Given the description of an element on the screen output the (x, y) to click on. 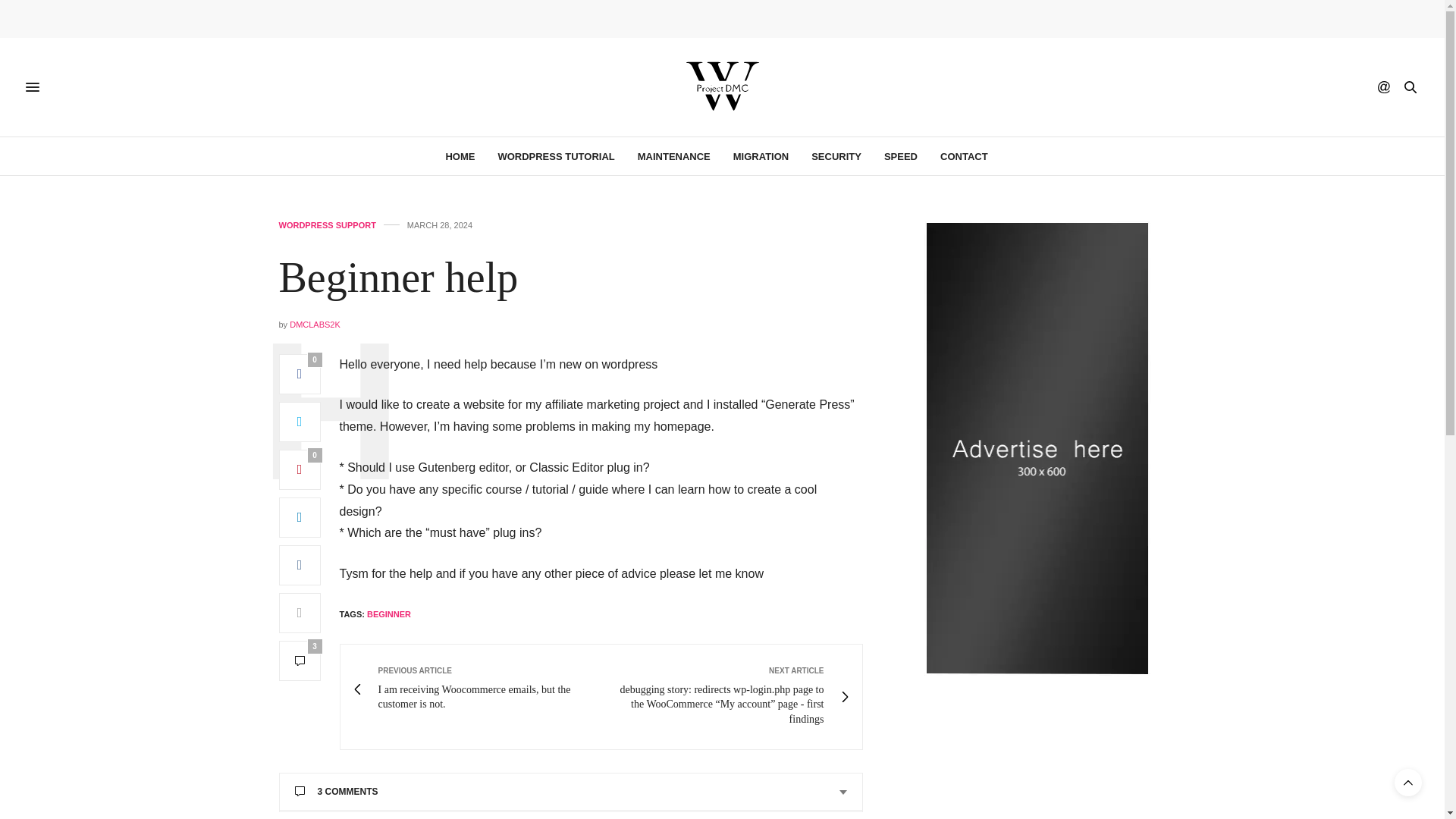
Project DMC (721, 86)
Scroll To Top (1408, 782)
DMCLABS2K (314, 324)
MAINTENANCE (673, 156)
SECURITY (835, 156)
CONTACT (964, 156)
MIGRATION (761, 156)
0 (299, 469)
3 (299, 660)
WORDPRESS TUTORIAL (555, 156)
BEGINNER (388, 614)
WORDPRESS SUPPORT (327, 225)
Posts by DMCLabs2k (314, 324)
0 (299, 373)
